Given the description of an element on the screen output the (x, y) to click on. 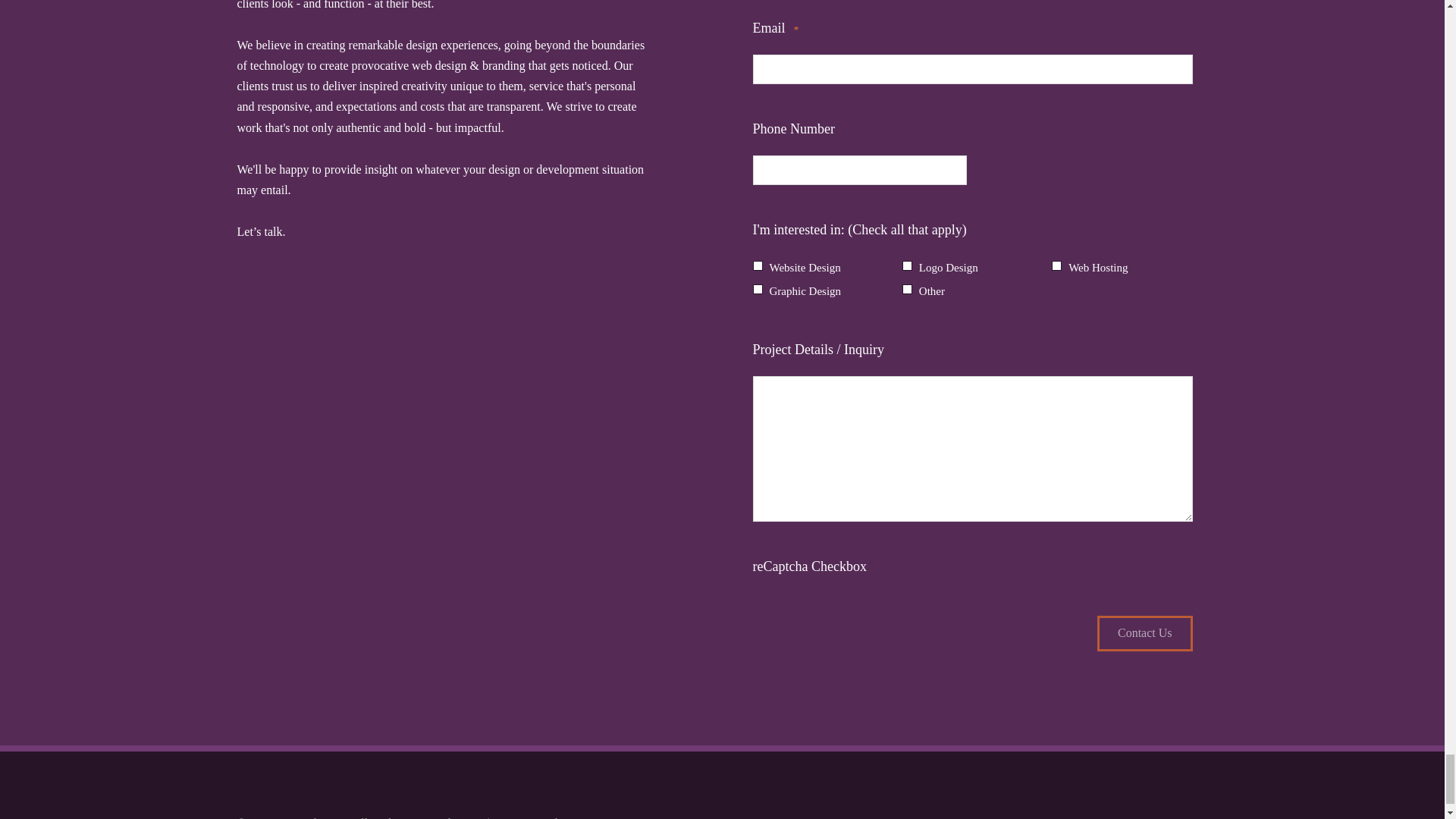
Contact Us (1144, 633)
